Given the description of an element on the screen output the (x, y) to click on. 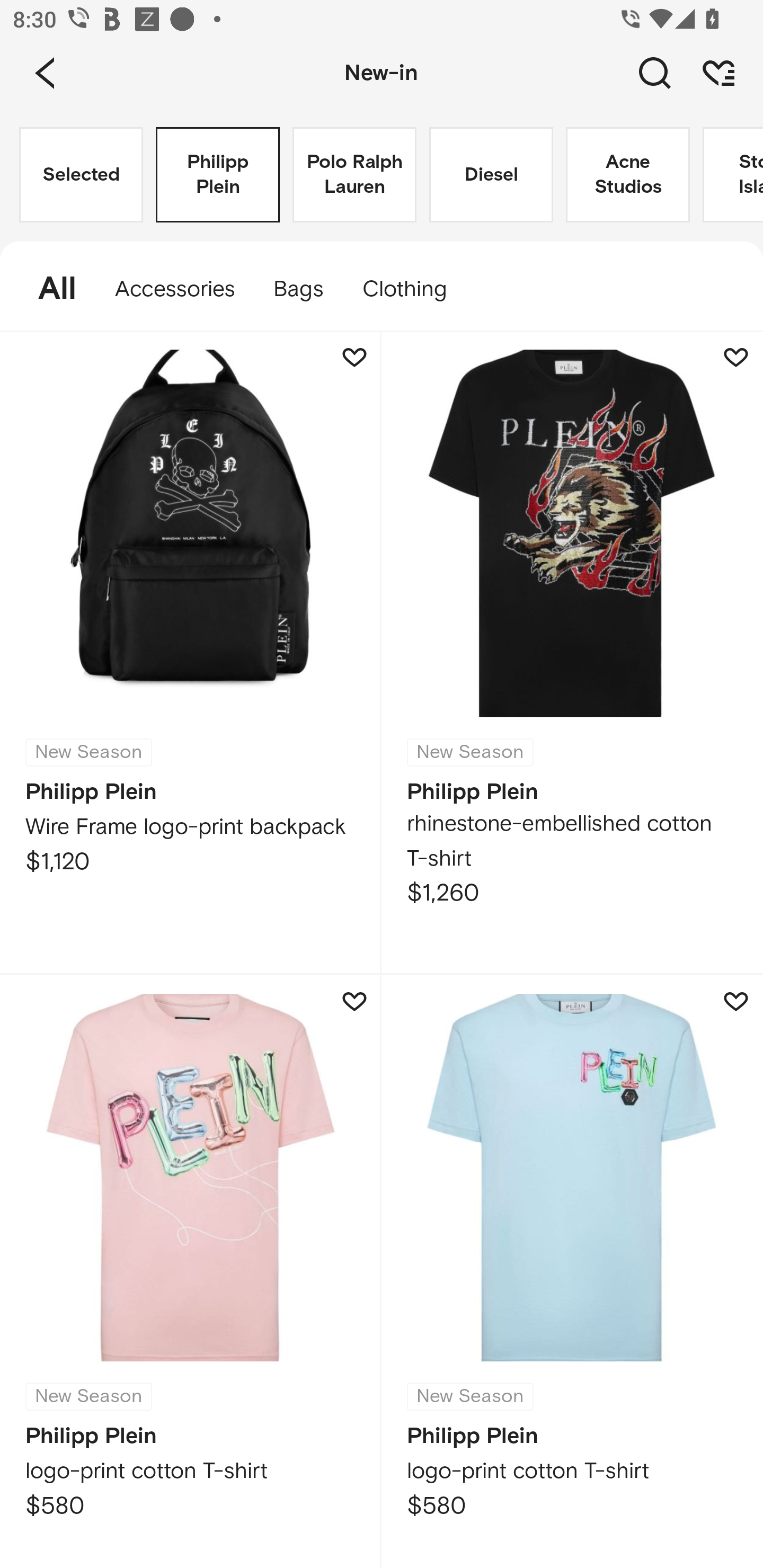
Selected (81, 174)
Philipp Plein (217, 174)
Polo Ralph Lauren (354, 174)
Diesel (490, 174)
Acne Studios (627, 174)
All (47, 288)
Accessories (174, 288)
Bags (298, 288)
Clothing (413, 288)
